Given the description of an element on the screen output the (x, y) to click on. 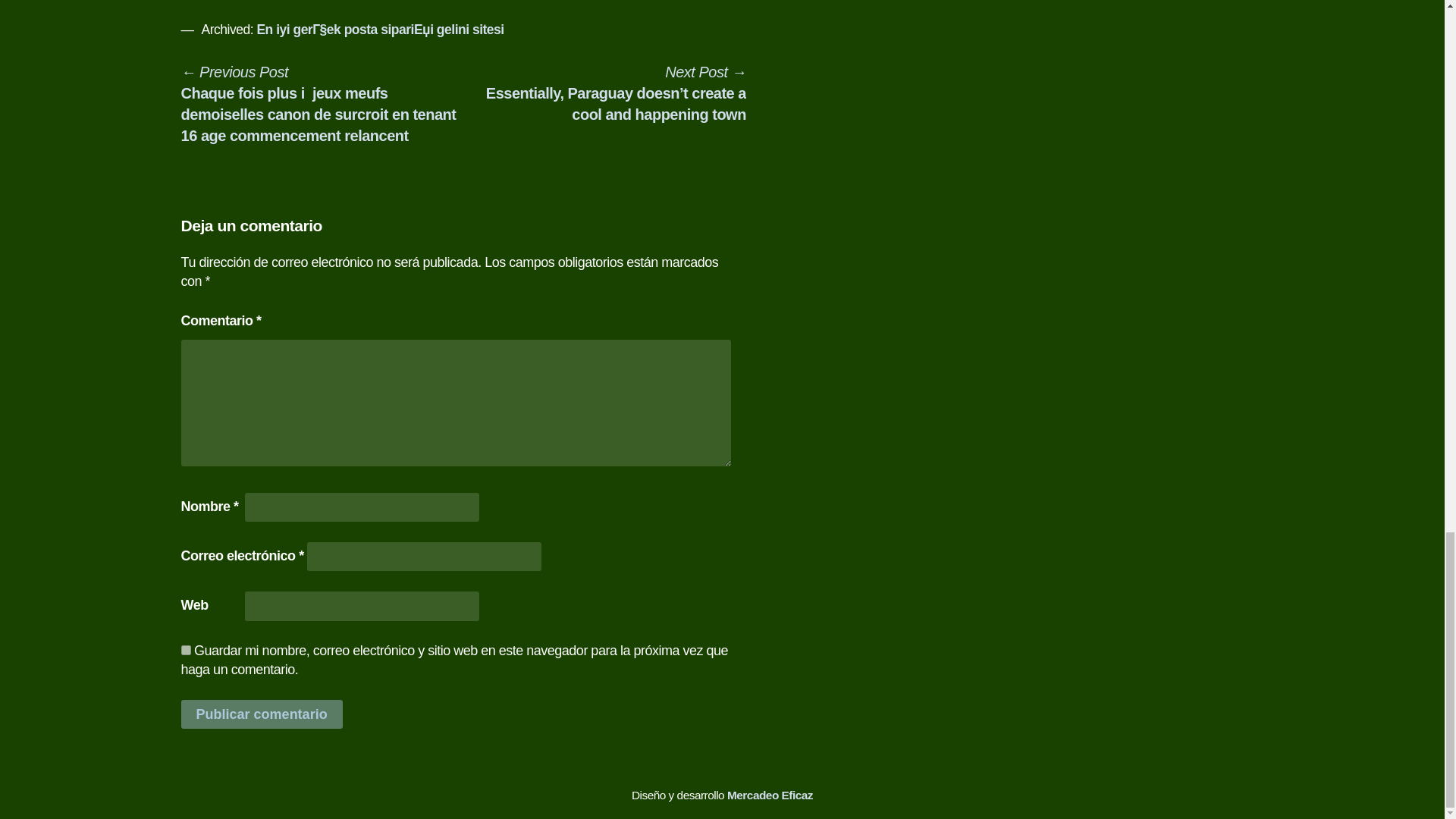
Publicar comentario (261, 714)
Publicar comentario (261, 714)
yes (185, 650)
Mercadeo Eficaz (769, 794)
